Given the description of an element on the screen output the (x, y) to click on. 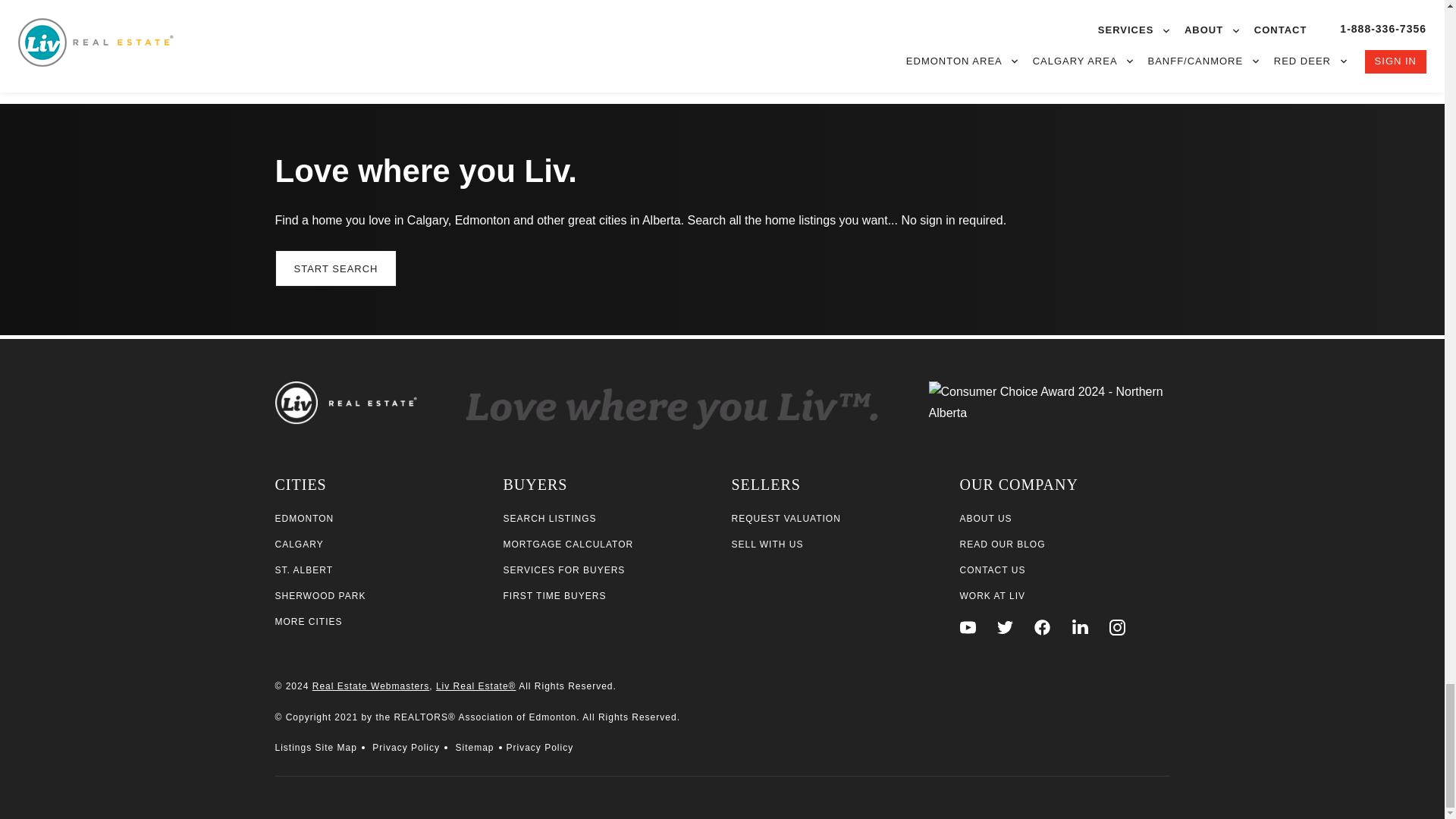
TWITTER (1005, 627)
LINKEDIN (1079, 627)
Consumer Choice Award 2023 - Northern Alberta (1049, 409)
YOUTUBE (967, 627)
FACEBOOK (1041, 627)
